Given the description of an element on the screen output the (x, y) to click on. 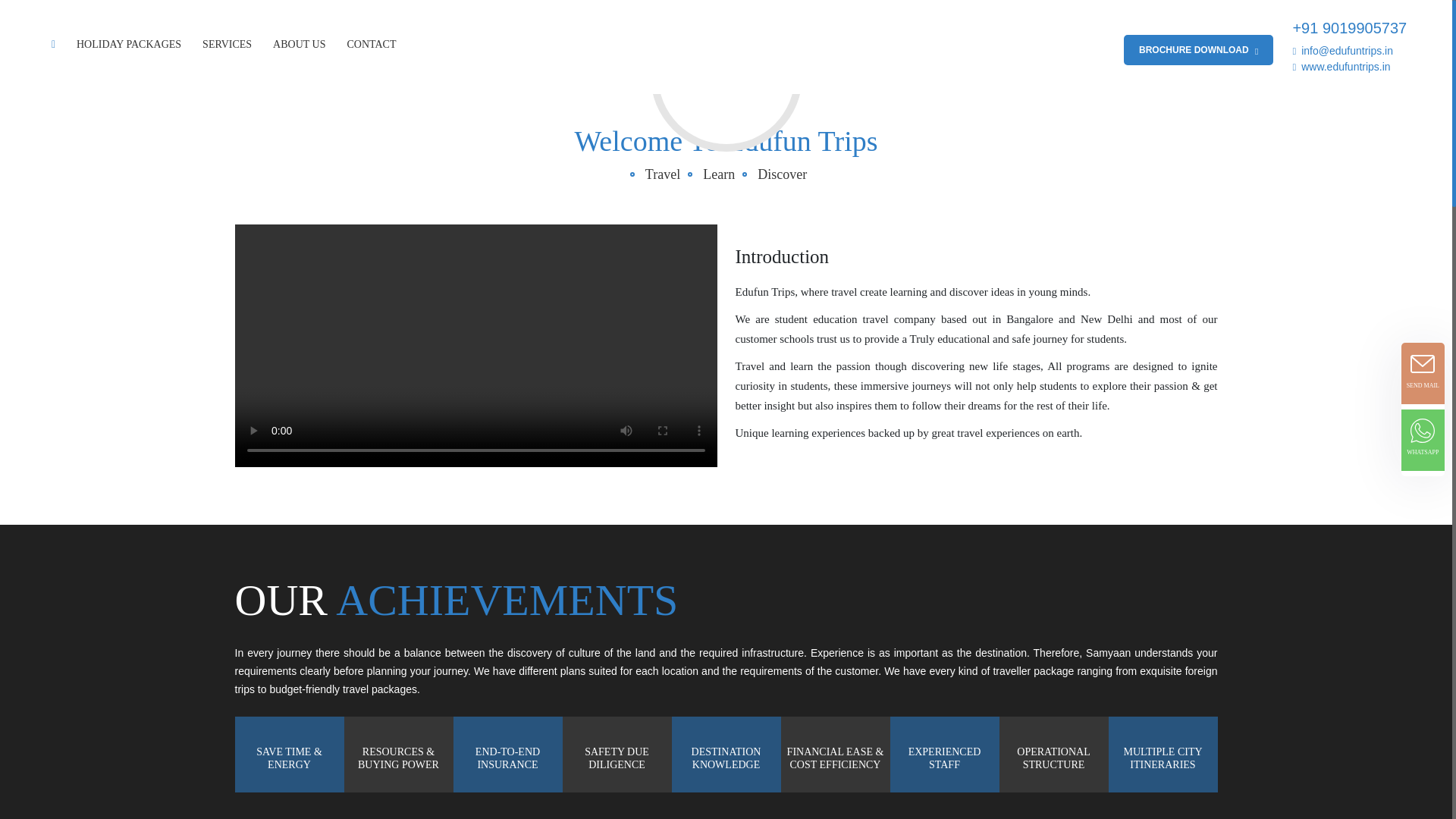
www.edufuntrips.in (1341, 66)
ABOUT US (303, 43)
CONTACT (375, 43)
SERVICES (231, 43)
9019905737 (1364, 27)
HOLIDAY PACKAGES (132, 43)
BROCHURE DOWNLOAD (1198, 50)
